Given the description of an element on the screen output the (x, y) to click on. 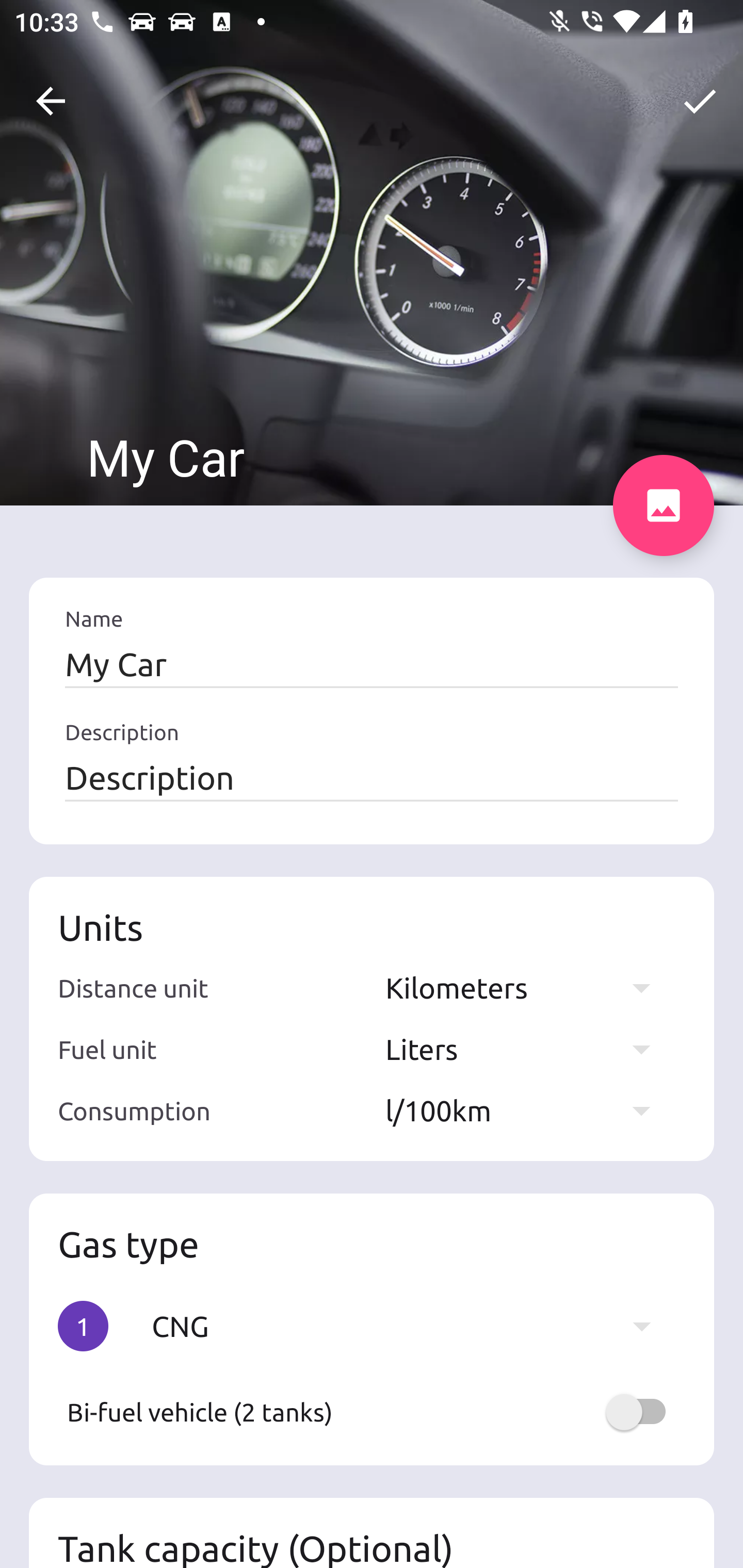
Navigate up (50, 101)
OK (699, 101)
My Car (371, 664)
Description (371, 777)
Kilometers (527, 987)
Liters (527, 1048)
l/100km (527, 1110)
CNG (411, 1325)
Bi-fuel vehicle (2 tanks) (371, 1411)
